Given the description of an element on the screen output the (x, y) to click on. 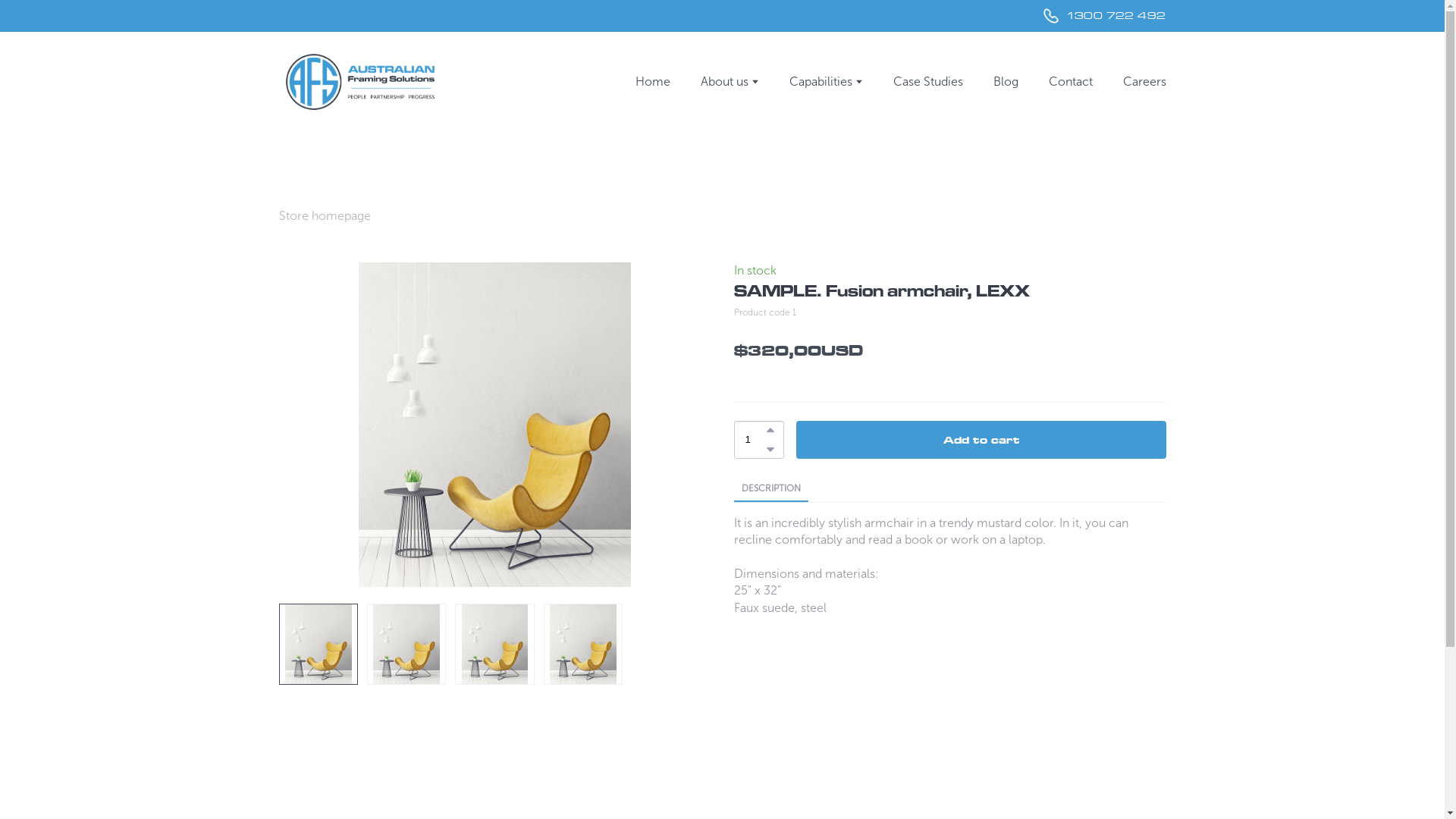
Case Studies Element type: text (928, 81)
About us Element type: text (724, 81)
Careers Element type: text (1143, 81)
Home Element type: text (652, 81)
Capabilities Element type: text (819, 81)
Blog Element type: text (1005, 81)
Store homepage Element type: text (324, 215)
1300 722 492 Element type: text (1103, 15)
Contact Element type: text (1070, 81)
Add to cart Element type: text (980, 439)
